Given the description of an element on the screen output the (x, y) to click on. 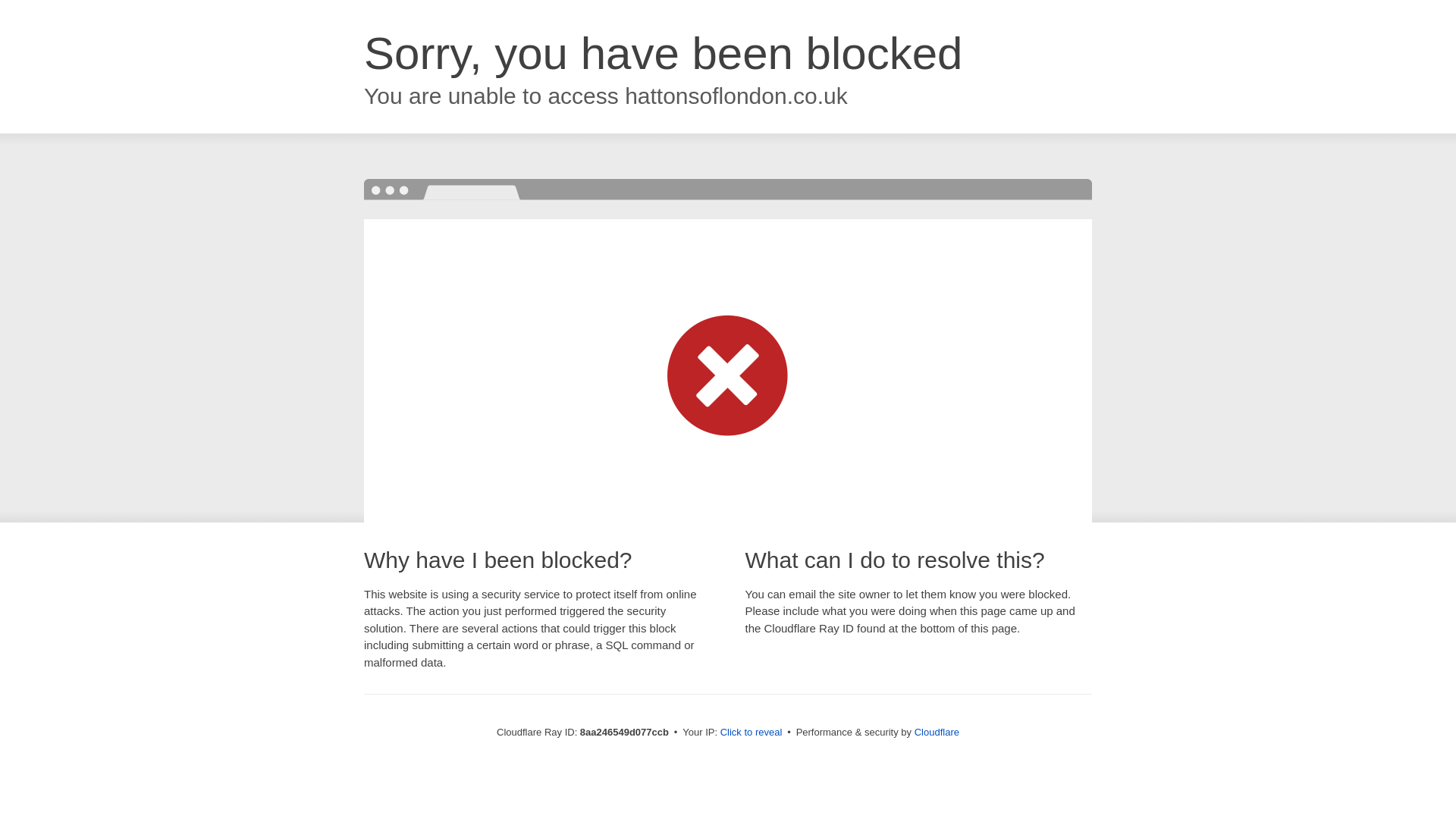
Cloudflare (936, 731)
Click to reveal (751, 732)
